Given the description of an element on the screen output the (x, y) to click on. 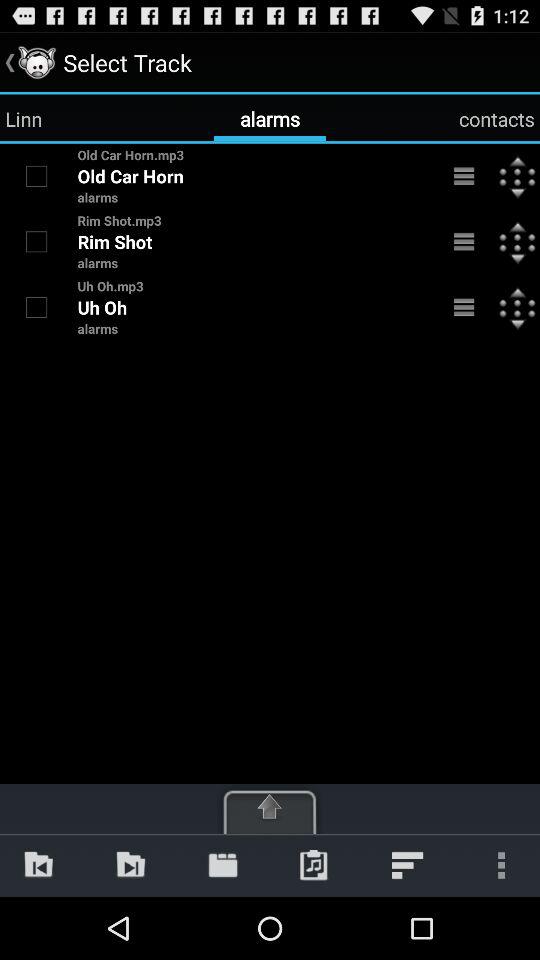
choose app below alarms item (130, 864)
